Given the description of an element on the screen output the (x, y) to click on. 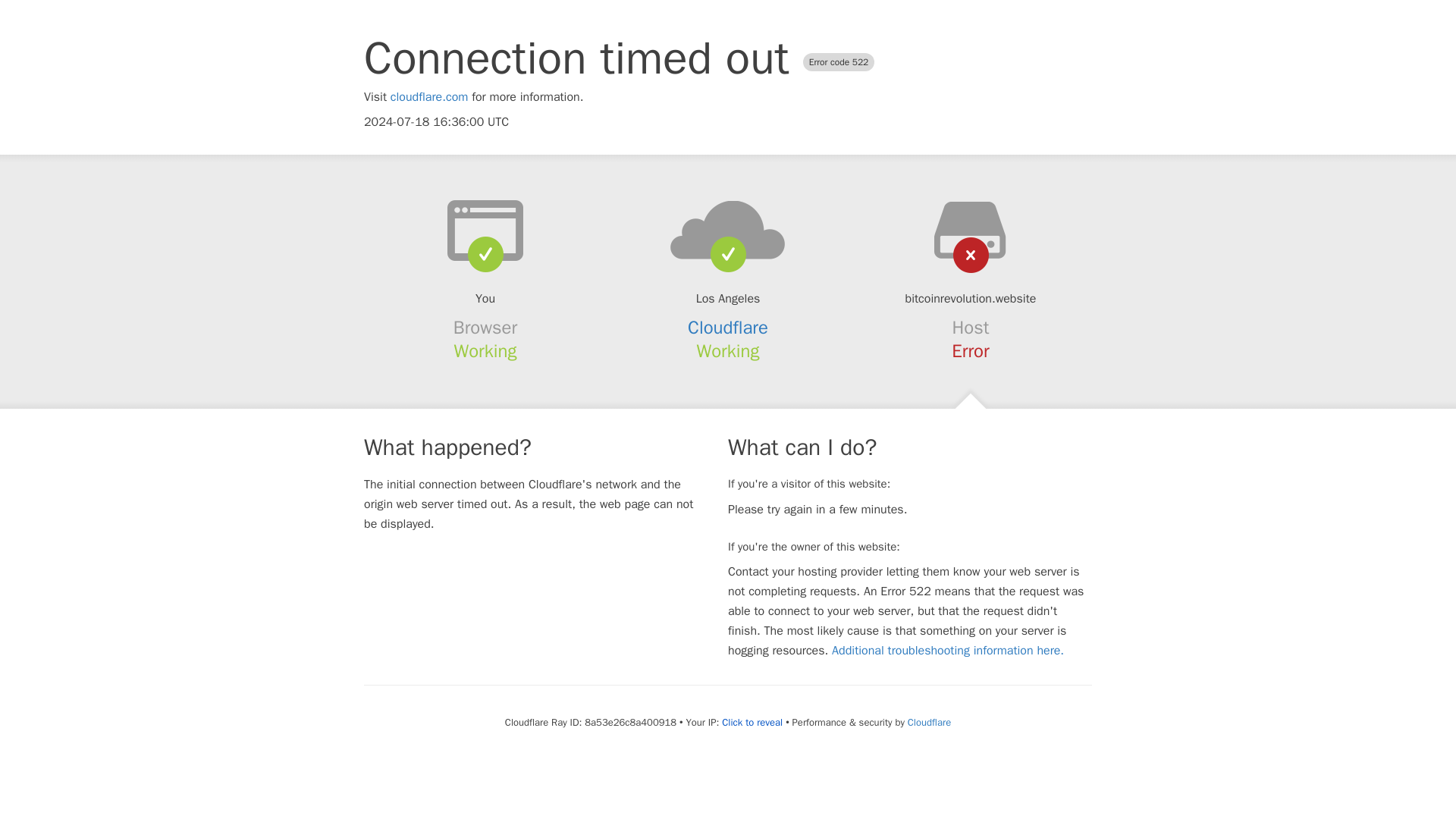
Additional troubleshooting information here. (947, 650)
Cloudflare (727, 327)
Click to reveal (752, 722)
Cloudflare (928, 721)
cloudflare.com (429, 96)
